Given the description of an element on the screen output the (x, y) to click on. 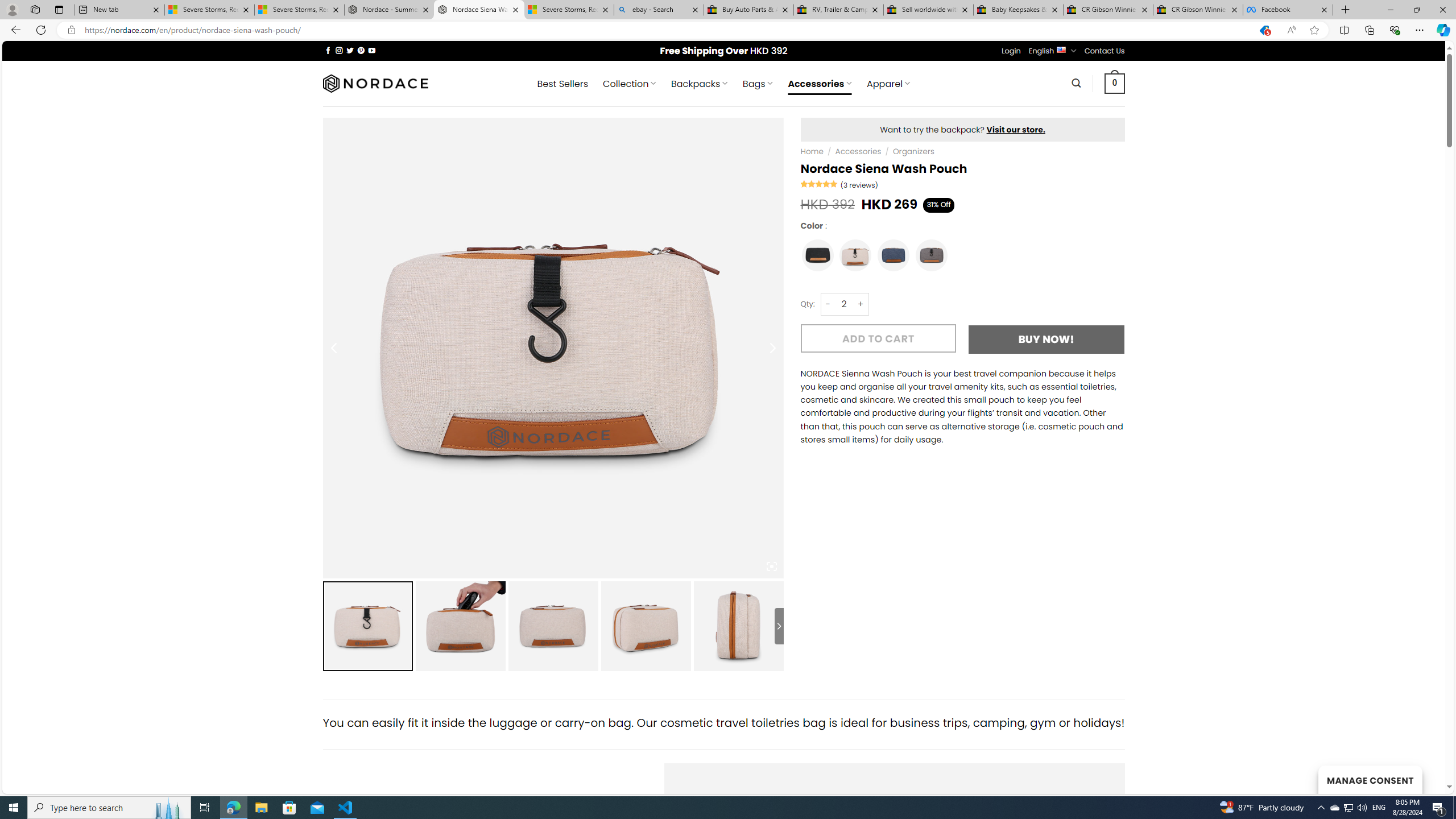
Nordace - Summer Adventures 2024 (389, 9)
Login (1010, 50)
 0  (1115, 83)
Browser essentials (1394, 29)
Restore (1416, 9)
